Given the description of an element on the screen output the (x, y) to click on. 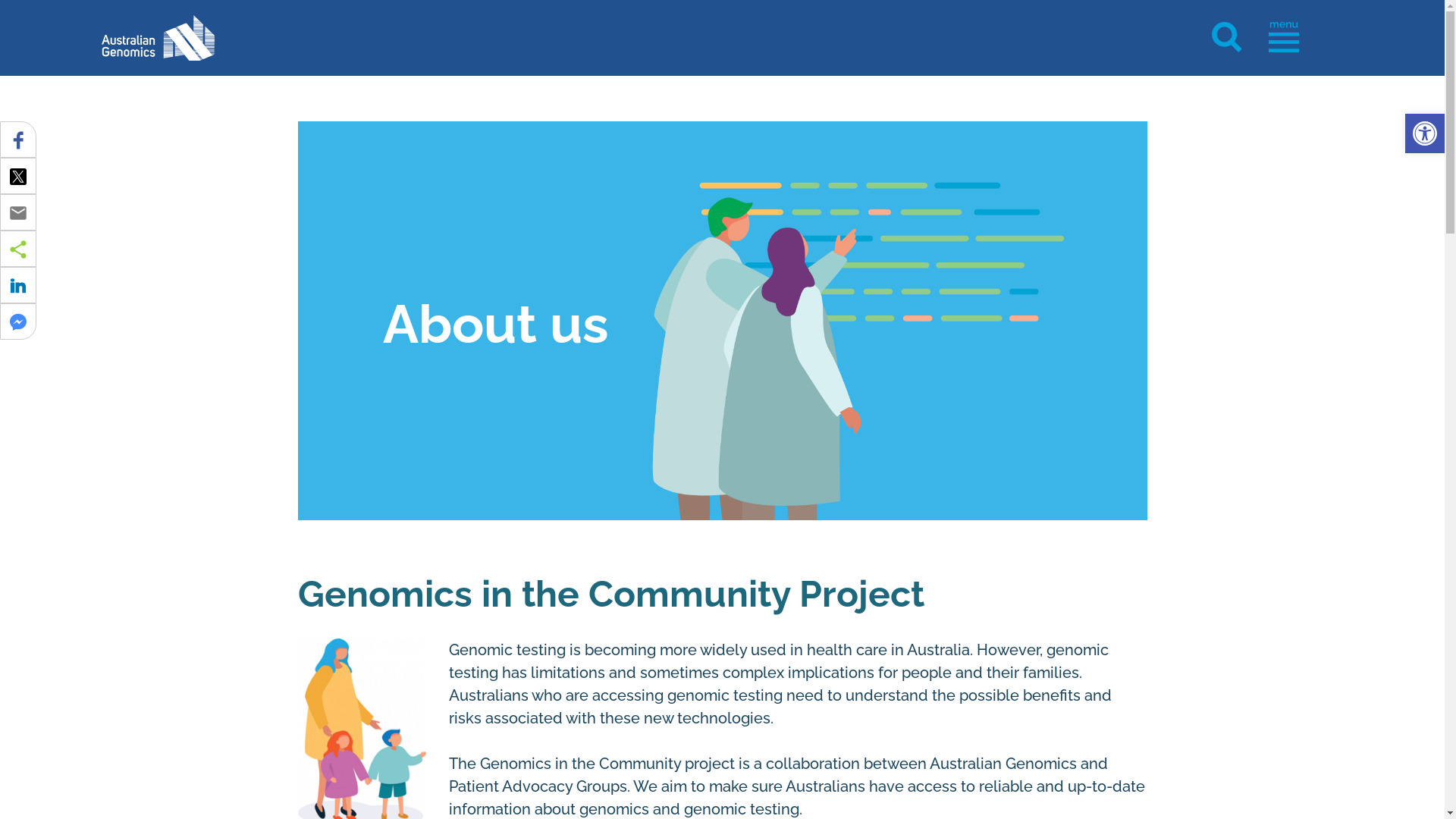
Open toolbar
Accessibility Tools Element type: text (1424, 133)
Genomics info Element type: text (215, 37)
